Given the description of an element on the screen output the (x, y) to click on. 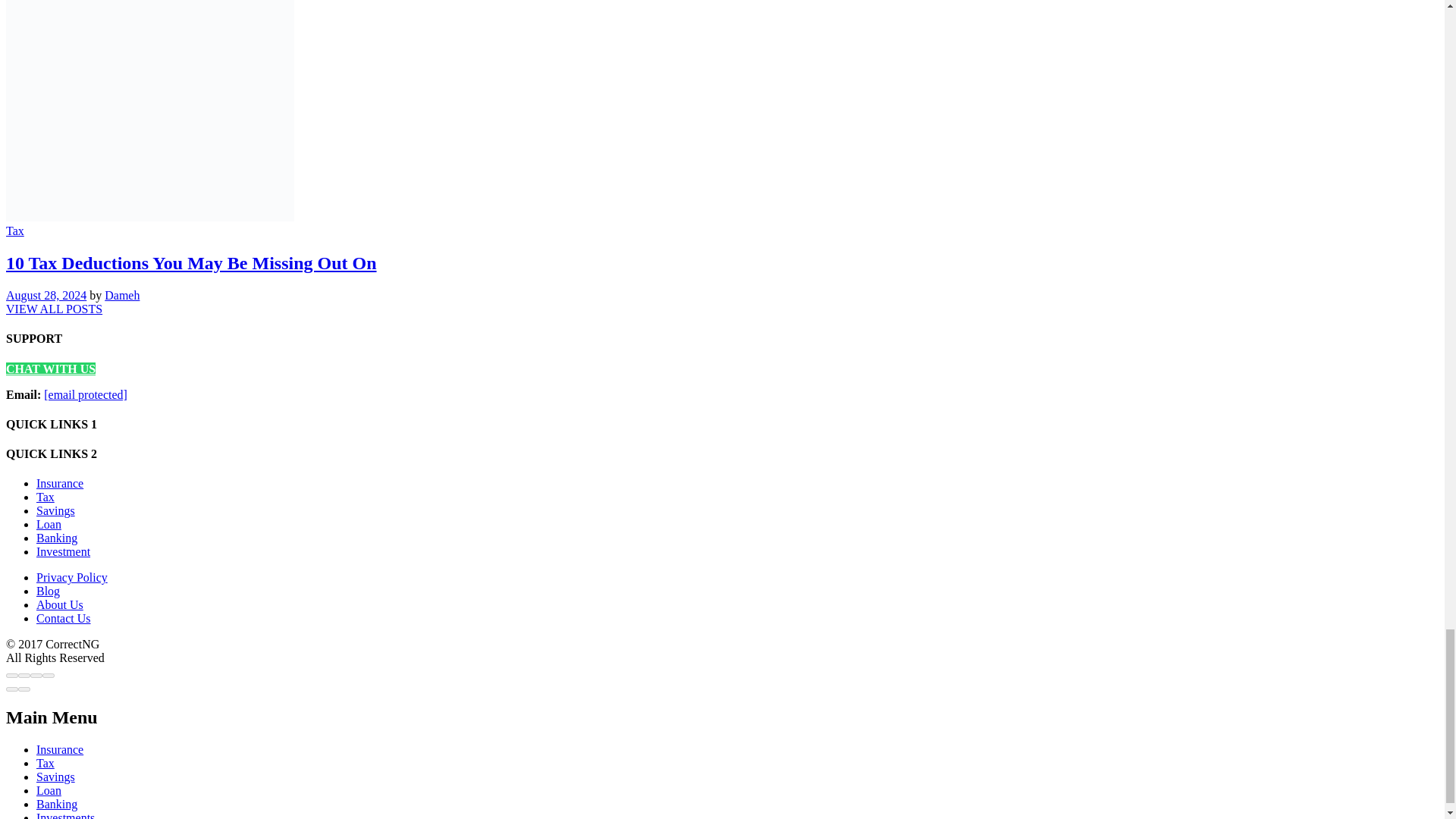
Share (23, 675)
Toggle fullscreen (36, 675)
CHAT US ON WHATSAPP (50, 368)
